Given the description of an element on the screen output the (x, y) to click on. 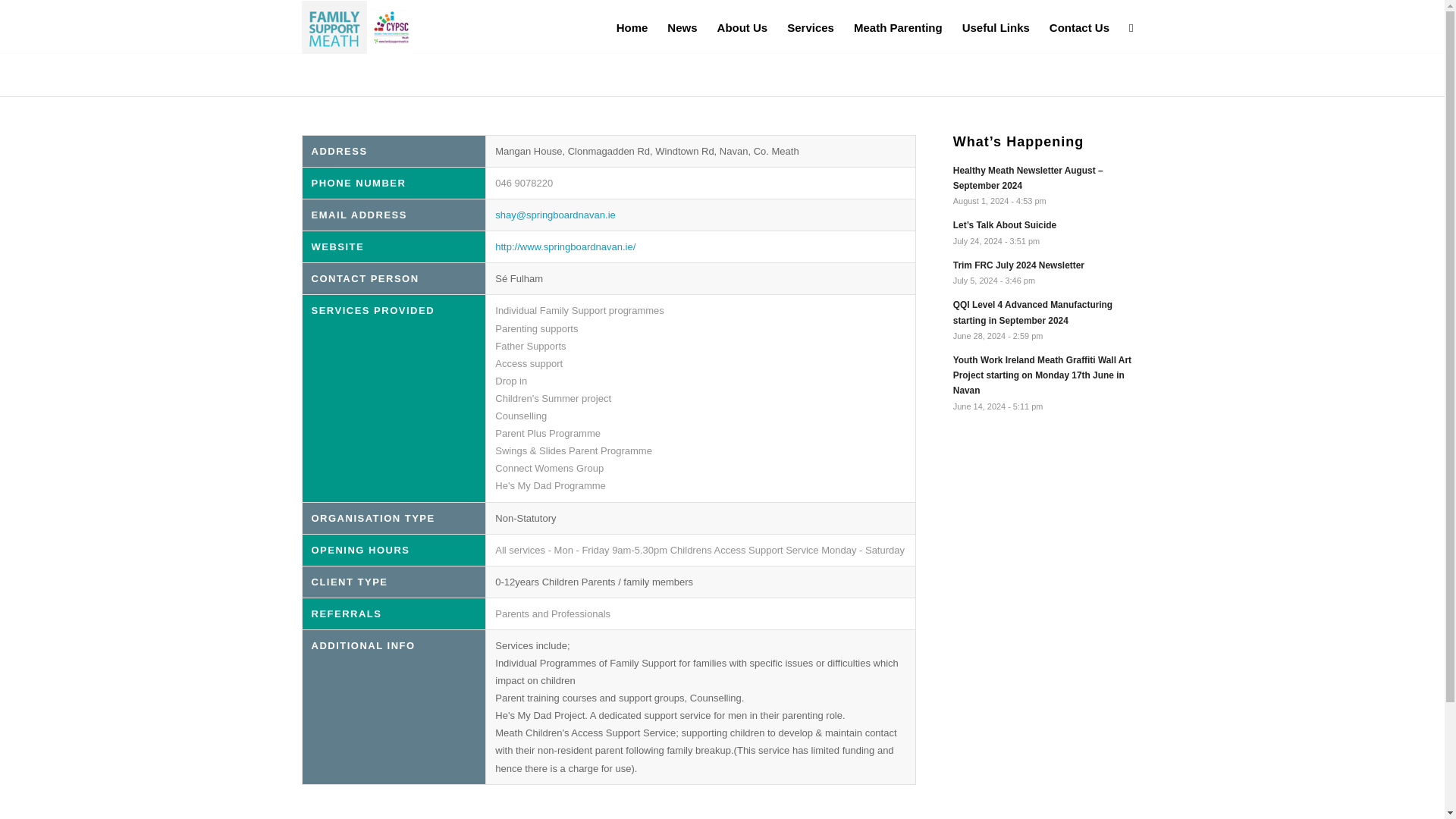
Home (632, 27)
About Us (742, 27)
News (1047, 272)
Meath Parenting (682, 27)
Trim FRC July 2024 Newsletter (898, 27)
Useful Links (1047, 272)
Services (995, 27)
Contact Us (810, 27)
